Given the description of an element on the screen output the (x, y) to click on. 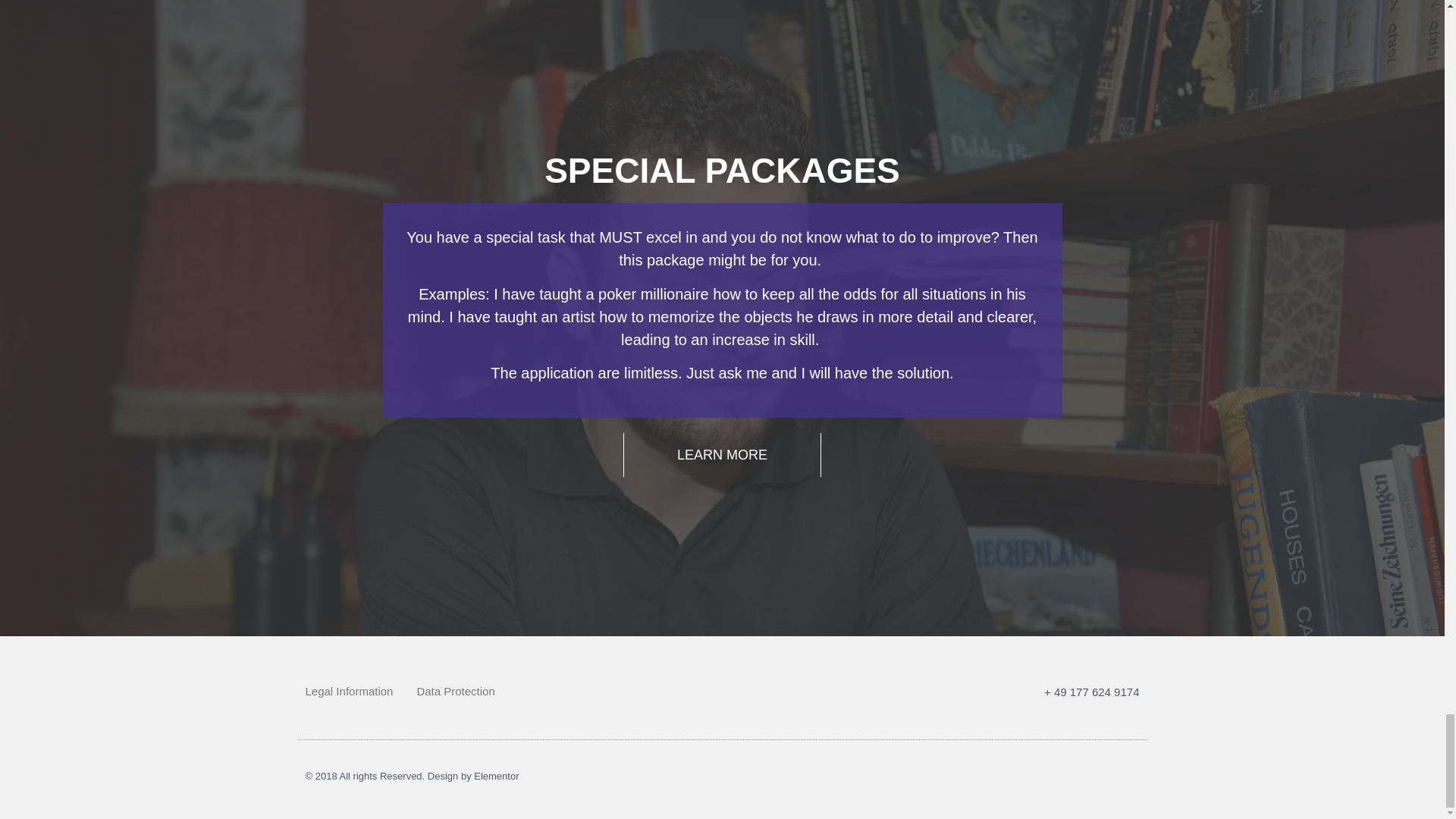
LEARN MORE (722, 454)
Data Protection (455, 691)
Legal Information (348, 691)
